Given the description of an element on the screen output the (x, y) to click on. 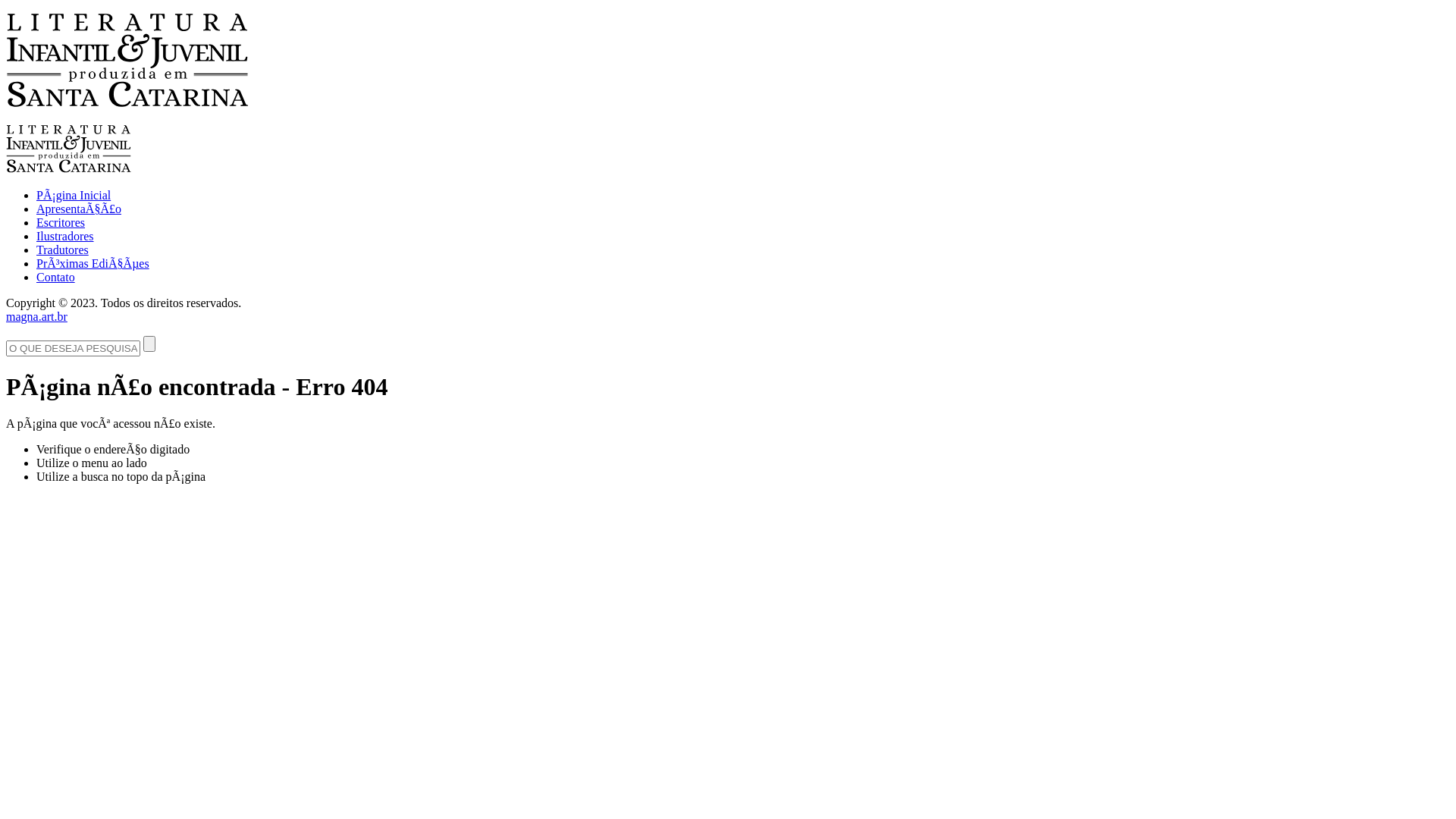
Tradutores Element type: text (62, 249)
Escritores Element type: text (60, 222)
Ilustradores Element type: text (65, 235)
Contato Element type: text (55, 276)
magna.art.br Element type: text (36, 316)
